Given the description of an element on the screen output the (x, y) to click on. 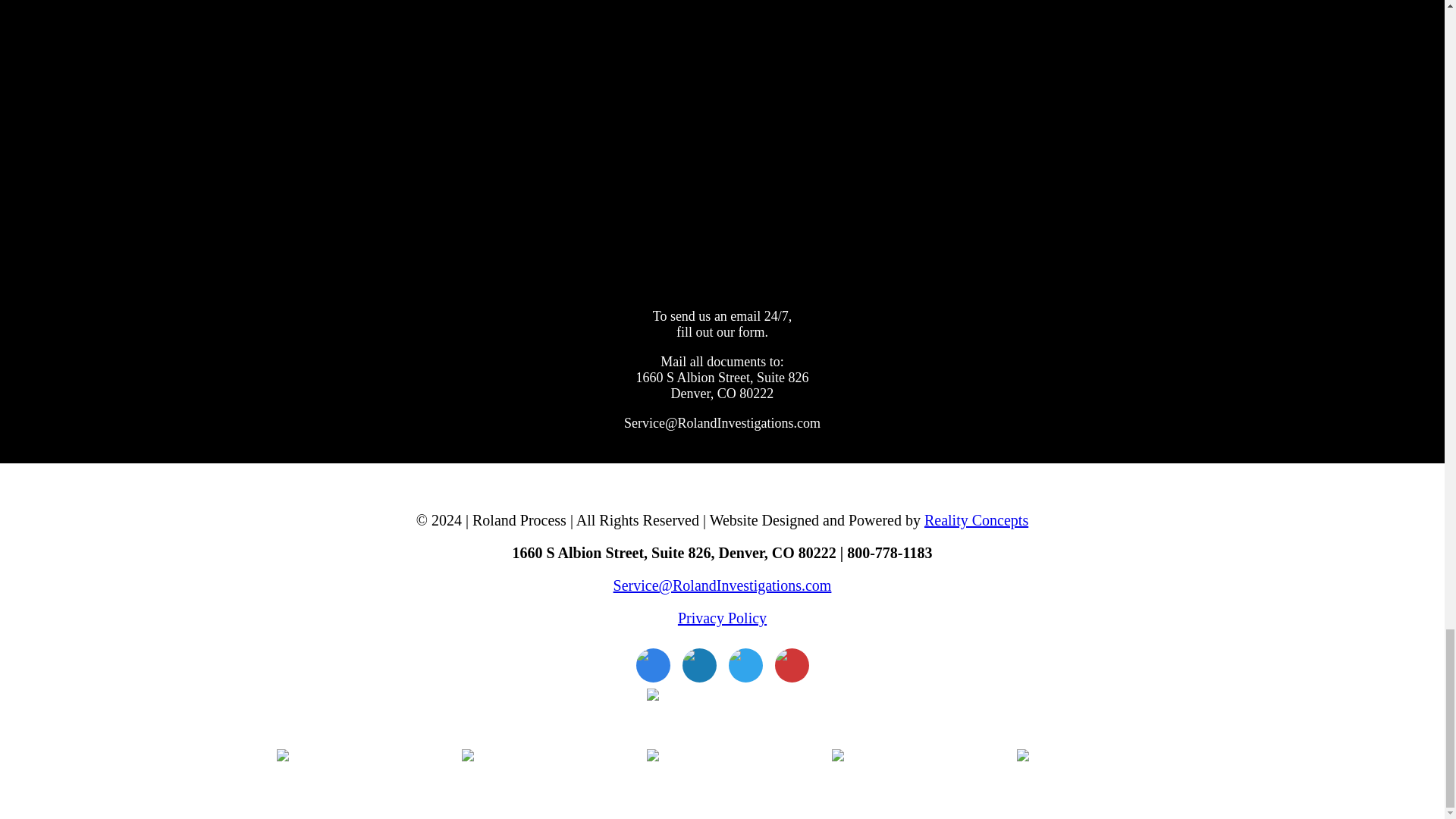
Tennessee Association of Professional Process Servers (536, 779)
National Association of Process Servers (721, 779)
California Association of Legal Support Professionals (1091, 779)
PST Powered (721, 718)
New York State Professional Process Servers Association (352, 779)
Georgia Association of Professional Process Servers (906, 779)
